Given the description of an element on the screen output the (x, y) to click on. 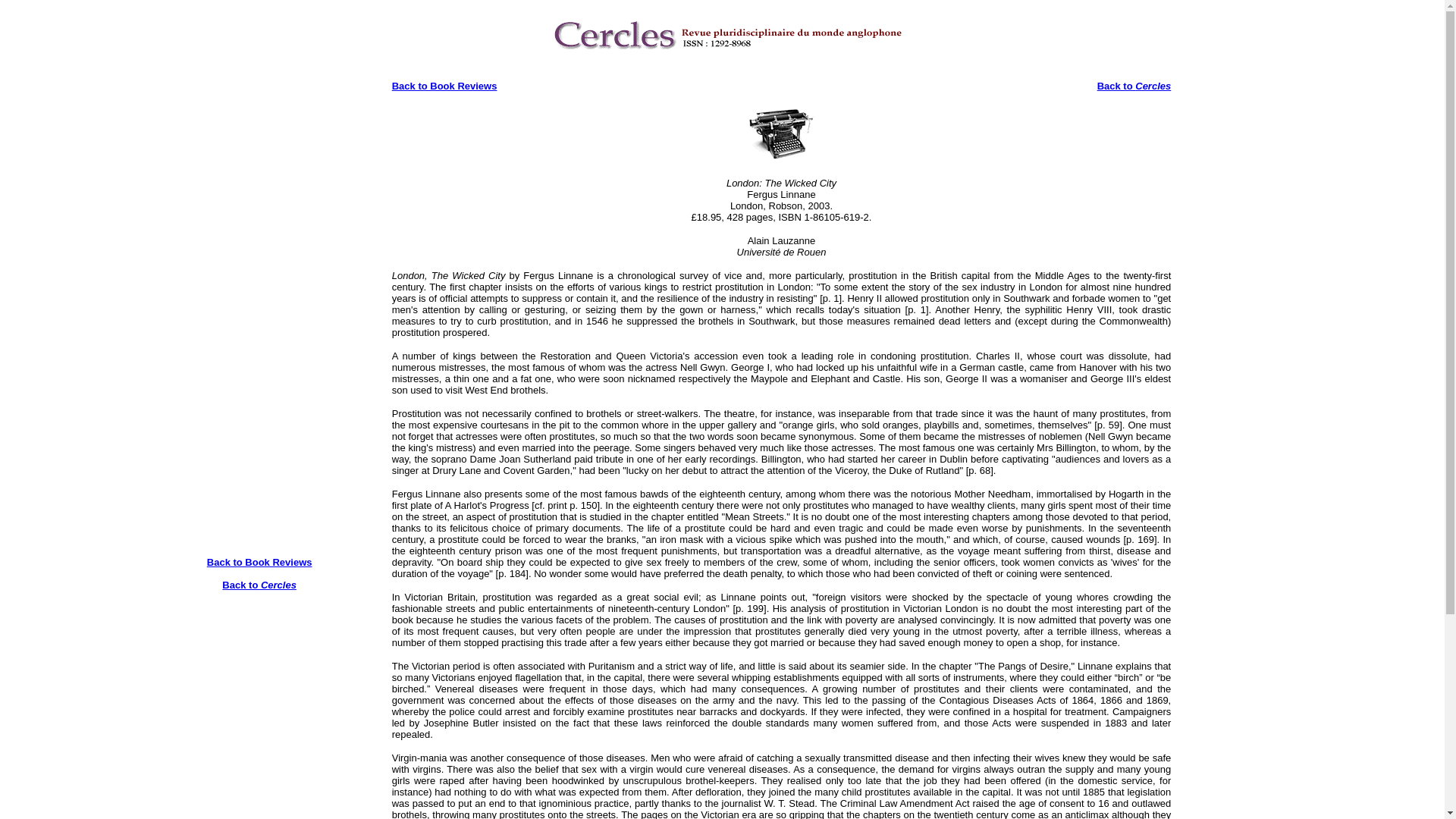
Back to Cercles (1134, 85)
Back to Book Reviews (259, 562)
Back to Cercles (259, 590)
Back to Book Reviews (444, 85)
